Given the description of an element on the screen output the (x, y) to click on. 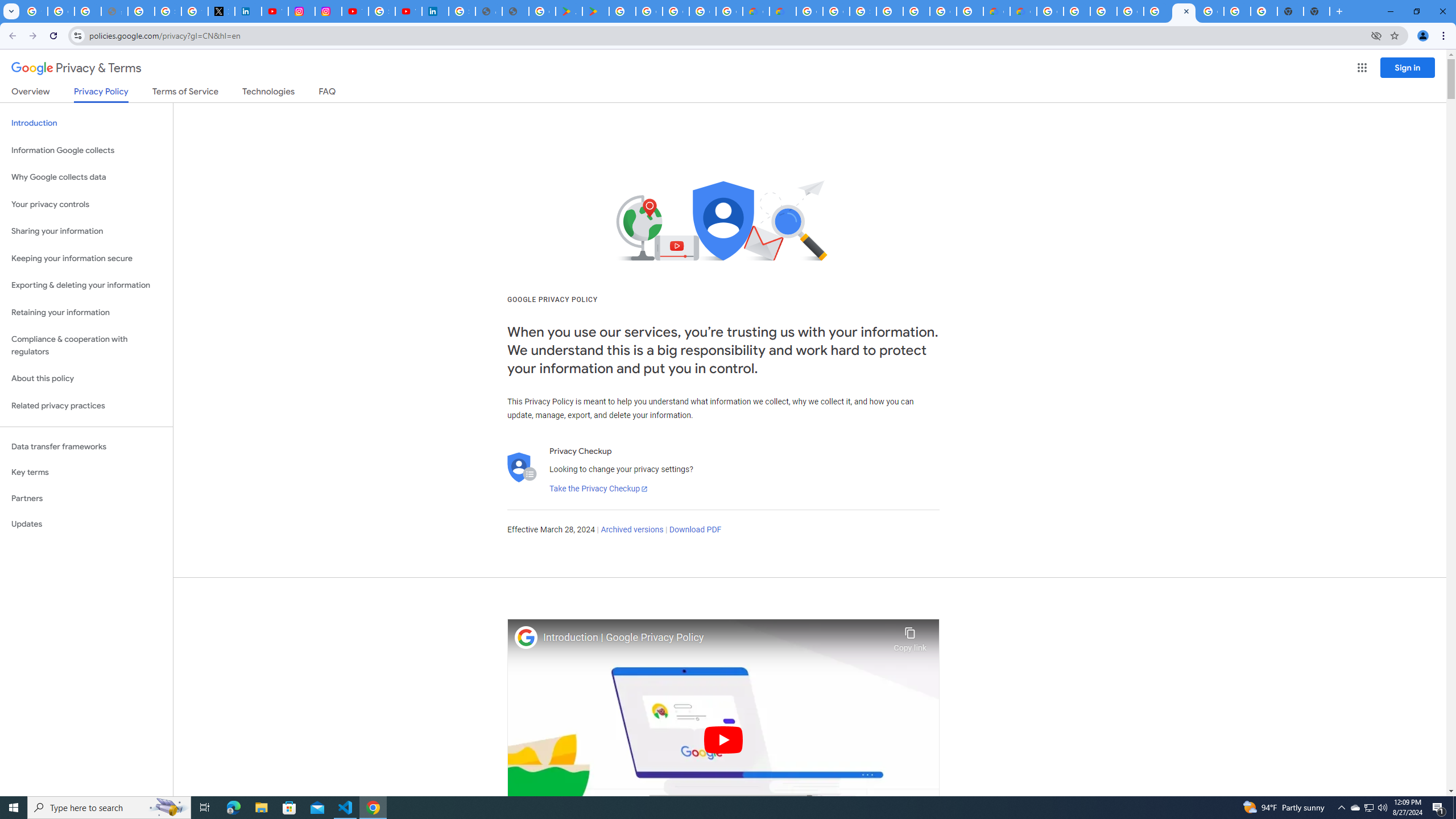
Technologies (268, 93)
Google Workspace - Specific Terms (729, 11)
Privacy Policy (100, 94)
Identity verification via Persona | LinkedIn Help (435, 11)
X (221, 11)
google_privacy_policy_en.pdf (488, 11)
FAQ (327, 93)
